Given the description of an element on the screen output the (x, y) to click on. 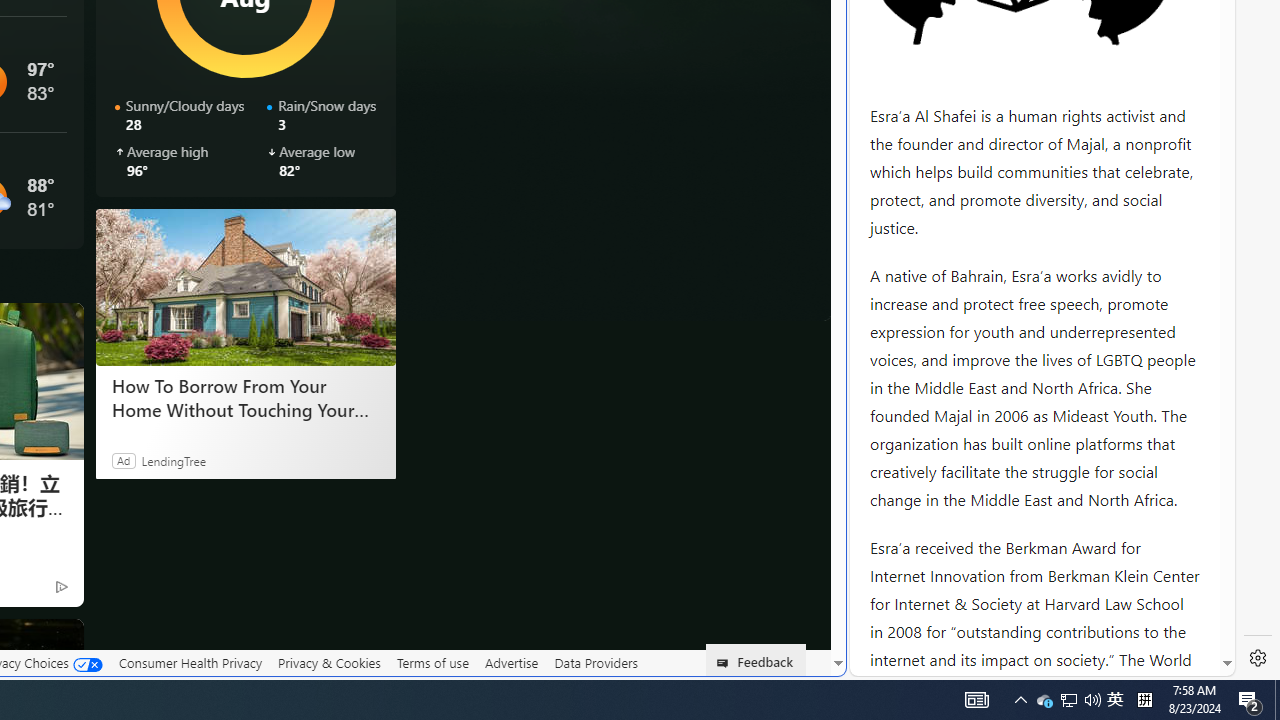
How To Borrow From Your Home Without Touching Your Mortgage (244, 286)
Class: feedback_link_icon-DS-EntryPoint1-1 (726, 663)
google_privacy_policy_zh-CN.pdf (687, 482)
Data Providers (595, 662)
How To Borrow From Your Home Without Touching Your Mortgage (245, 397)
